Given the description of an element on the screen output the (x, y) to click on. 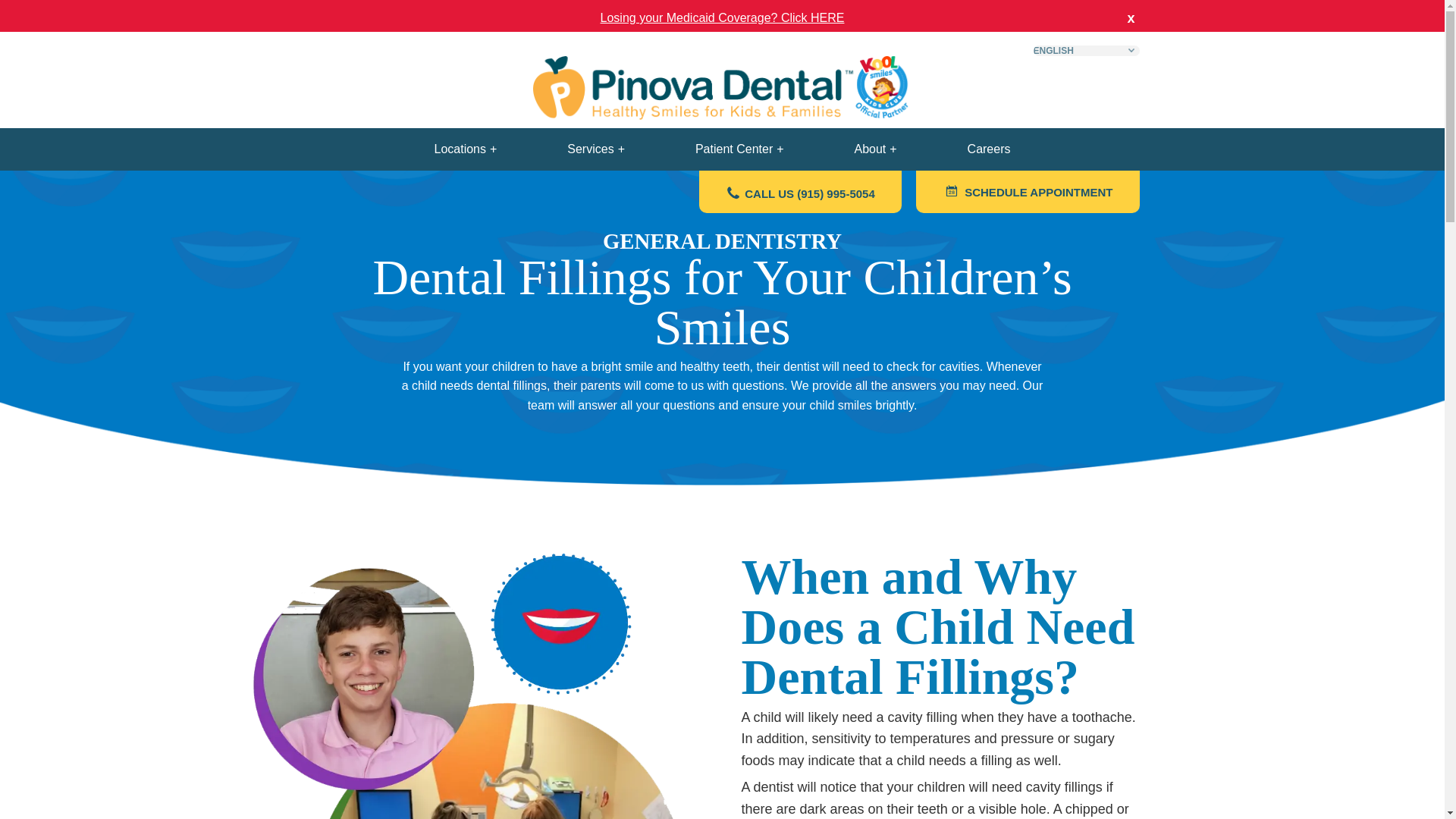
x (1130, 18)
Patient Center (739, 148)
Losing your Medicaid Coverage? Click HERE (721, 17)
General Dentistry (371, 172)
Locations (465, 148)
Services (595, 148)
Pinova Dental home (721, 115)
About (875, 148)
Careers (989, 148)
Services (289, 172)
SCHEDULE APPOINTMENT (1026, 191)
